Given the description of an element on the screen output the (x, y) to click on. 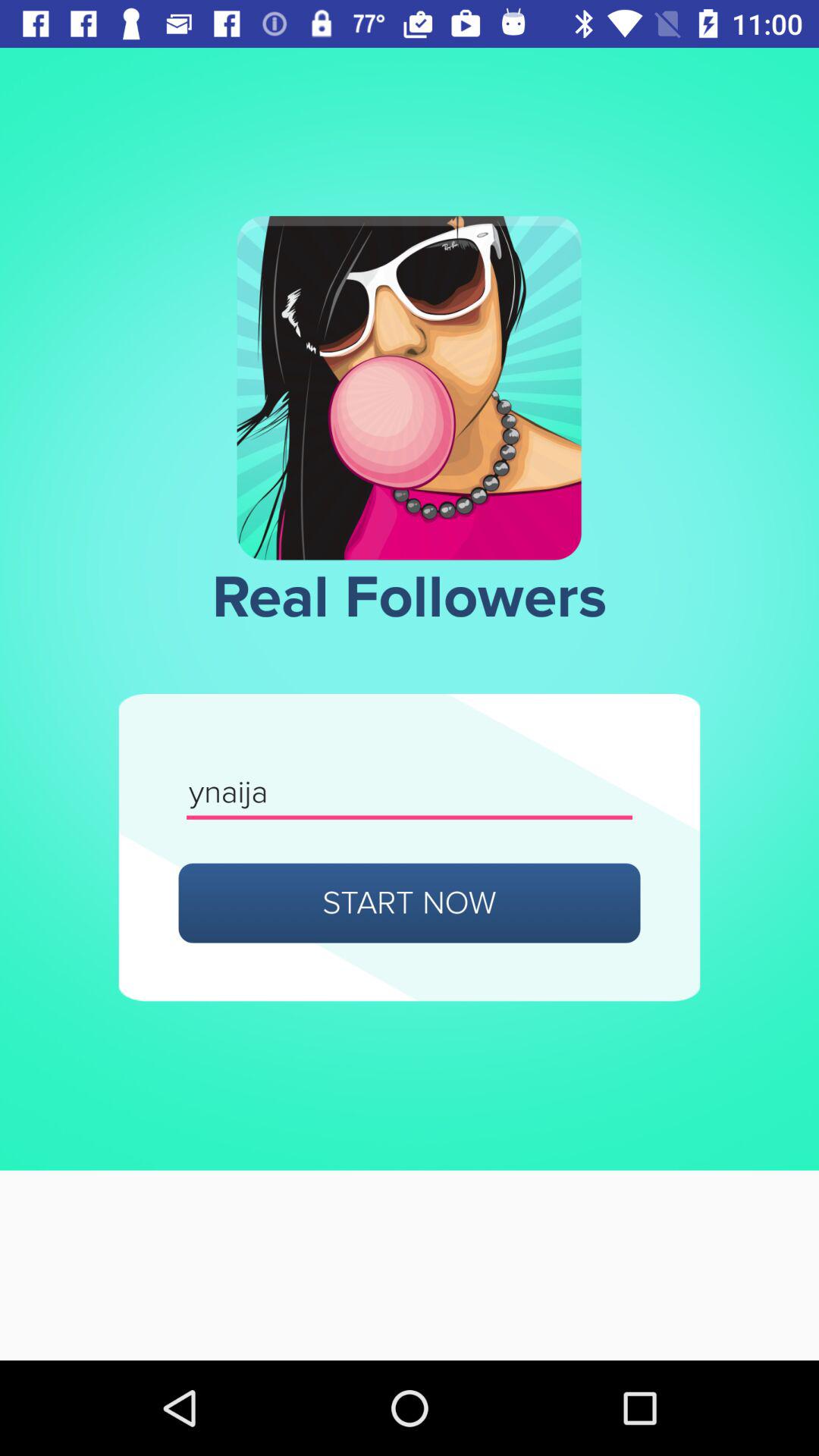
swipe to start now item (409, 902)
